Given the description of an element on the screen output the (x, y) to click on. 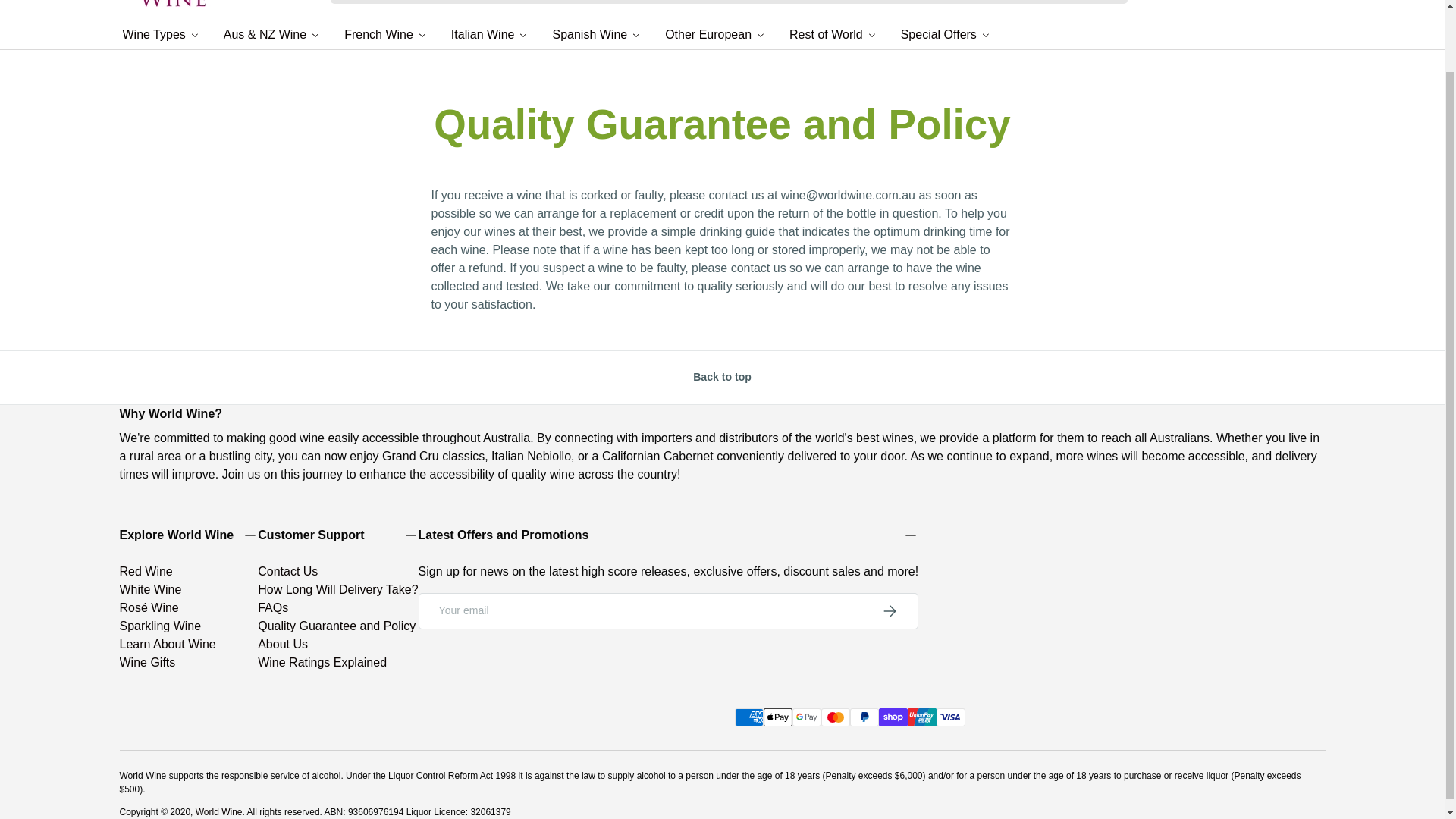
PayPal (862, 717)
Mastercard (834, 717)
Search (347, 3)
Cart (1316, 2)
Shop Pay (892, 717)
Wine Types (160, 33)
Google Pay (806, 717)
American Express (747, 717)
Apple Pay (777, 717)
Union Pay (921, 717)
